Given the description of an element on the screen output the (x, y) to click on. 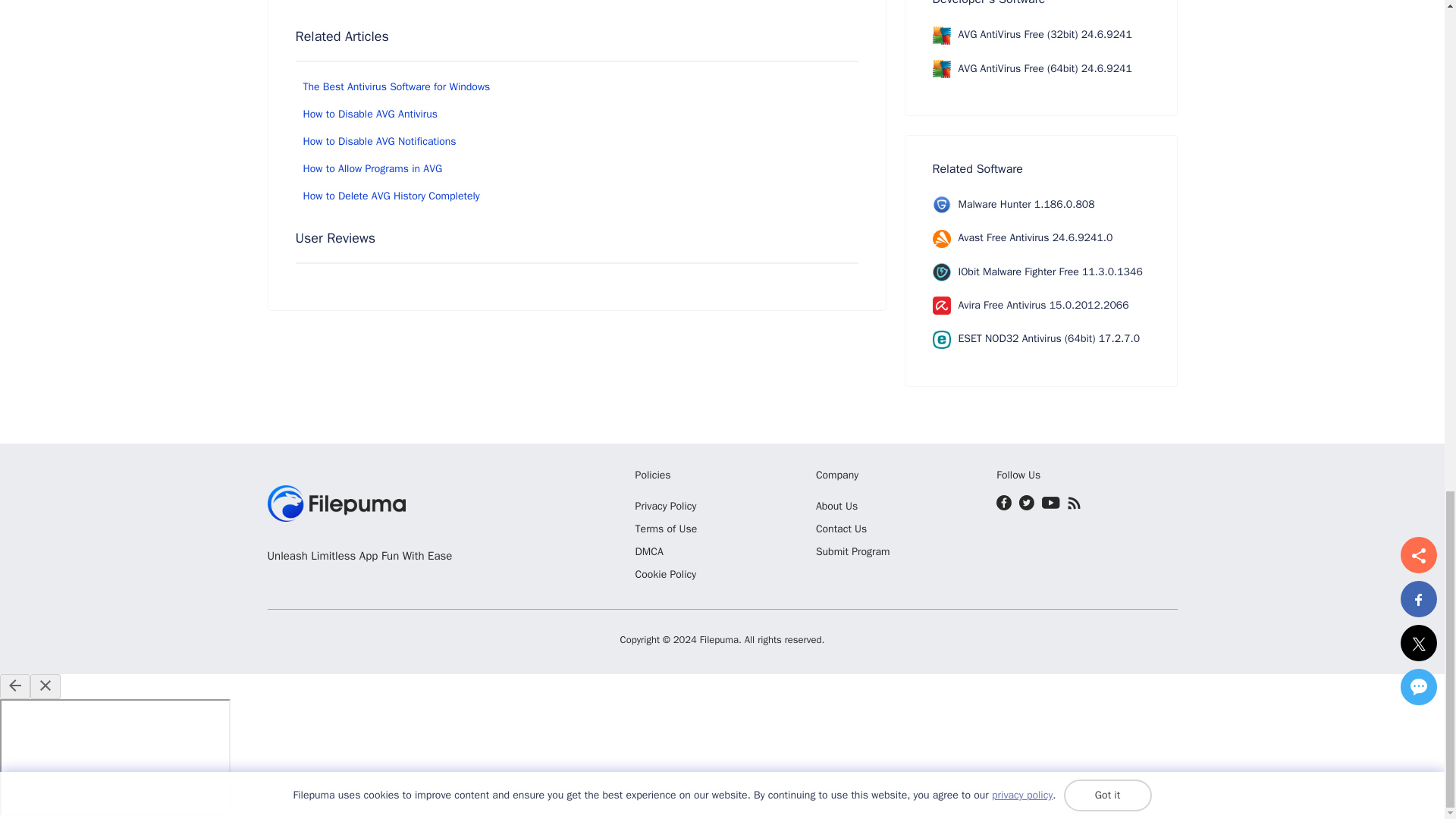
How to Disable AVG Antivirus (370, 113)
The Best Antivirus Software for Windows (396, 86)
